Given the description of an element on the screen output the (x, y) to click on. 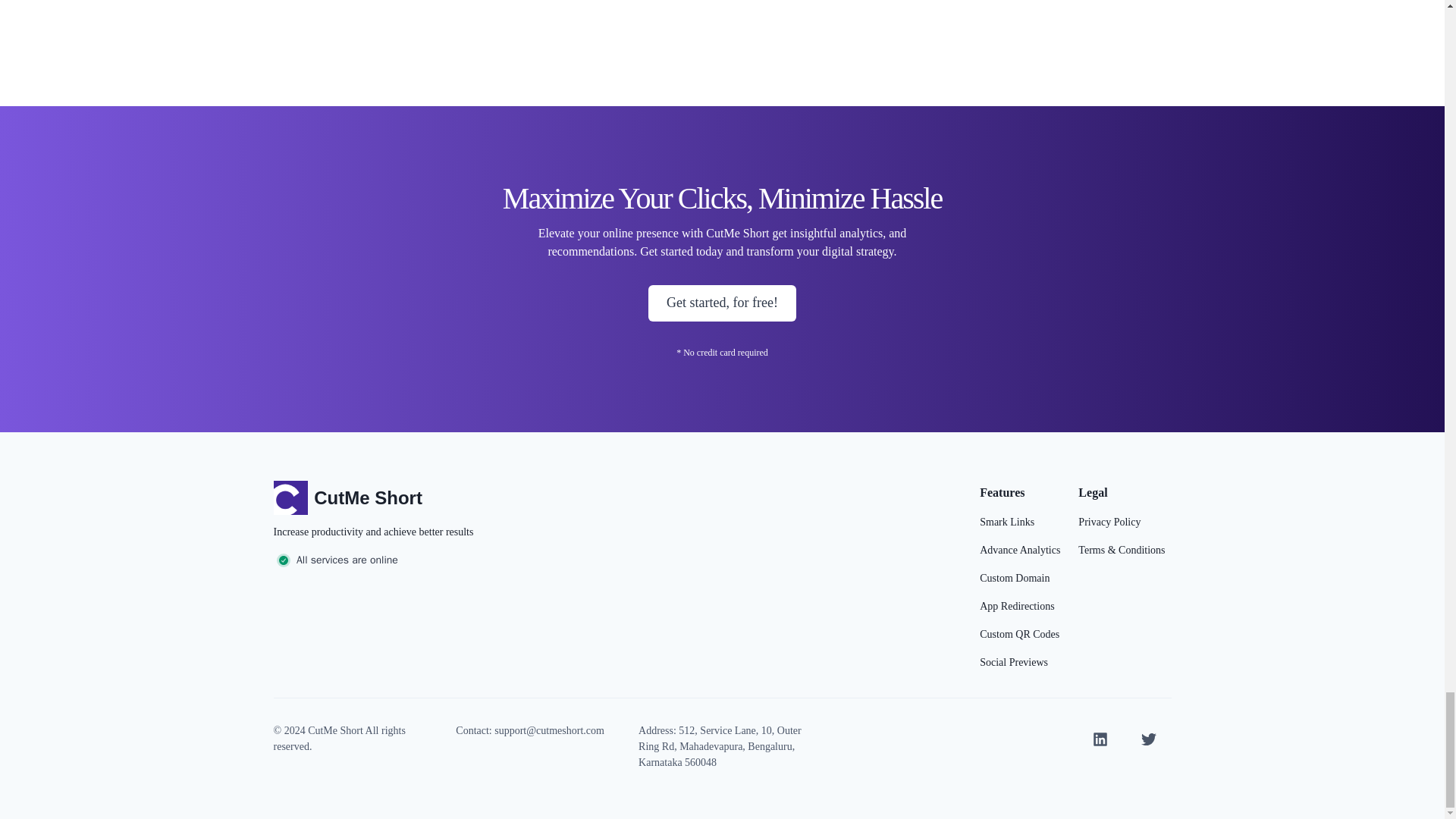
Advance Analytics (1019, 549)
Custom Domain (1014, 577)
Smark Links (1007, 522)
Social Previews (1014, 662)
Get started, for free! (721, 303)
Privacy Policy (1109, 522)
Custom QR Codes (1019, 634)
App Redirections (1016, 606)
